Given the description of an element on the screen output the (x, y) to click on. 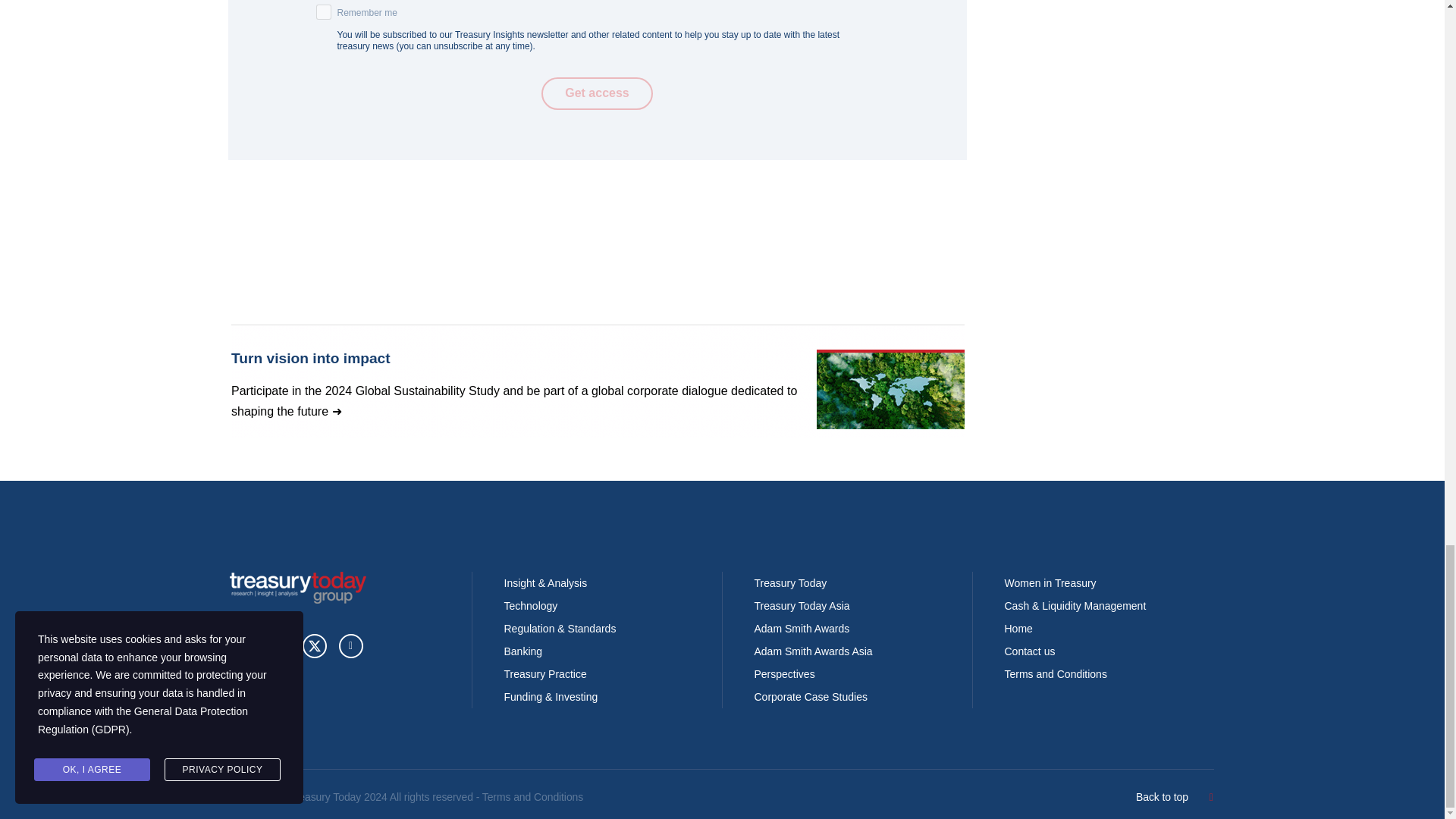
on (322, 11)
3rd party ad content (596, 381)
